Given the description of an element on the screen output the (x, y) to click on. 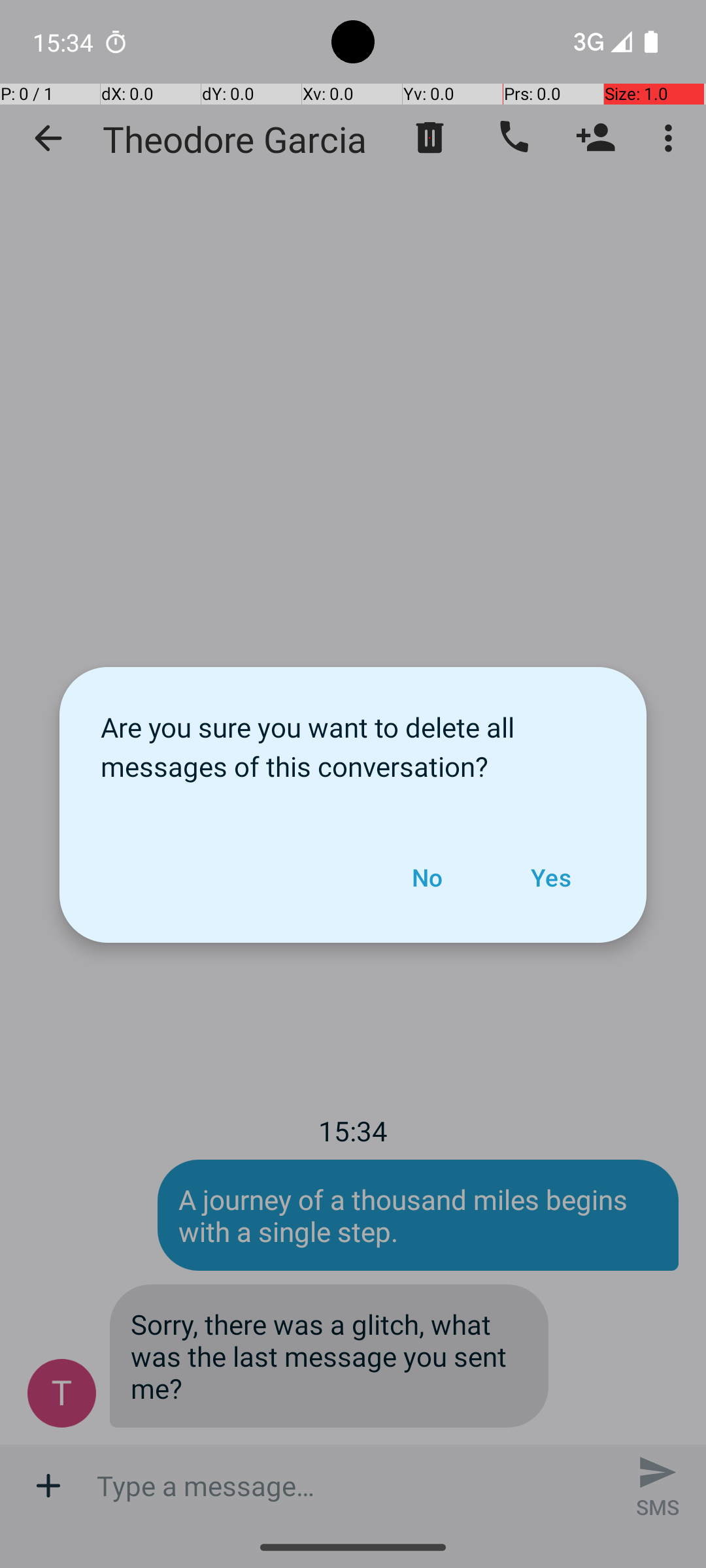
Are you sure you want to delete all messages of this conversation? Element type: android.widget.TextView (352, 739)
